Given the description of an element on the screen output the (x, y) to click on. 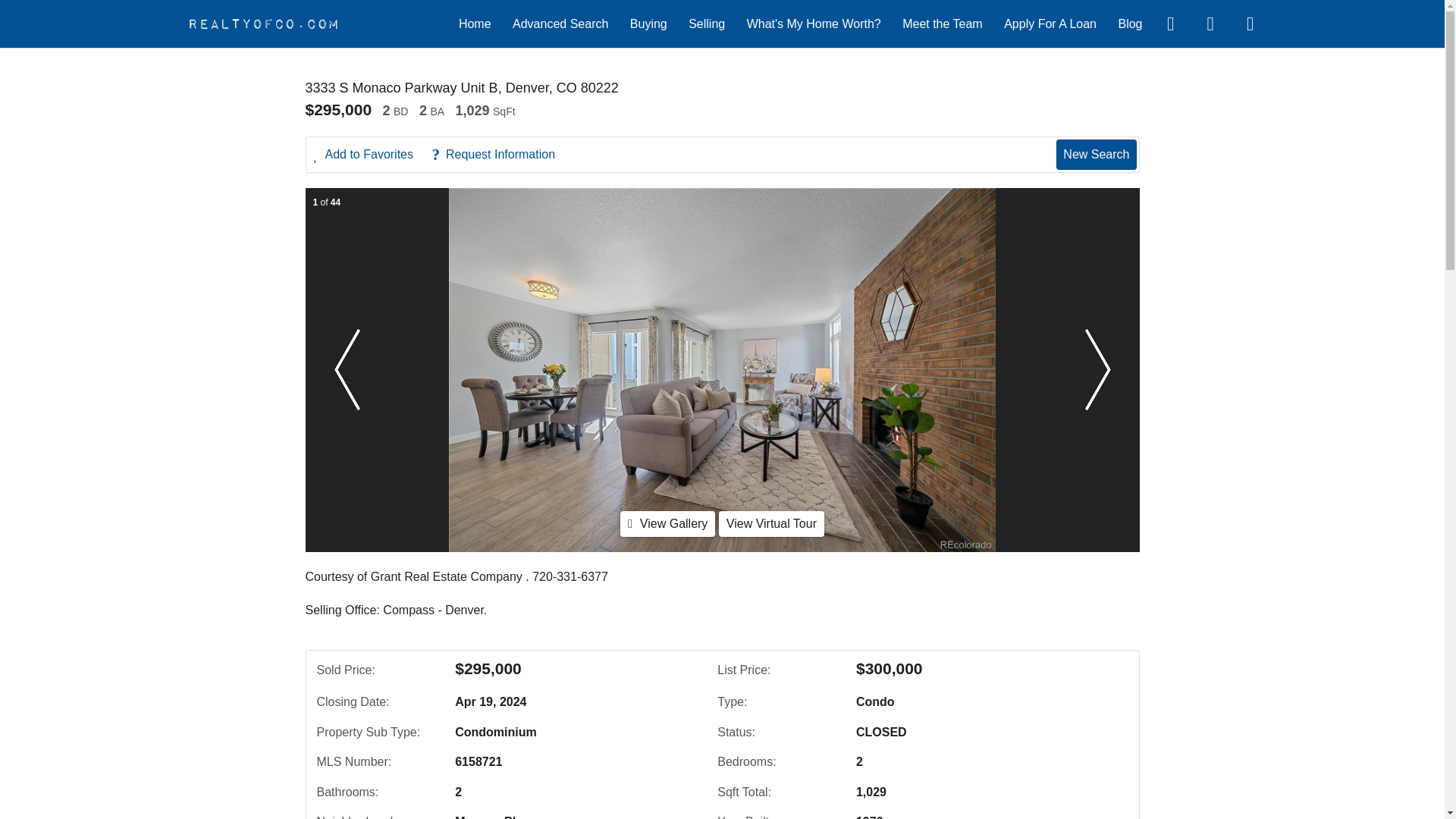
Buying (648, 23)
Request Information (500, 154)
New Search (1096, 154)
View Virtual Tour (771, 524)
View Gallery (667, 524)
Apply For A Loan (1050, 23)
View Gallery (667, 522)
Selling (706, 23)
Meet the Team (942, 23)
Advanced Search (560, 23)
View Virtual Tour (771, 522)
What's My Home Worth? (813, 23)
Home (475, 23)
Blog (1129, 23)
Add to Favorites (371, 154)
